Given the description of an element on the screen output the (x, y) to click on. 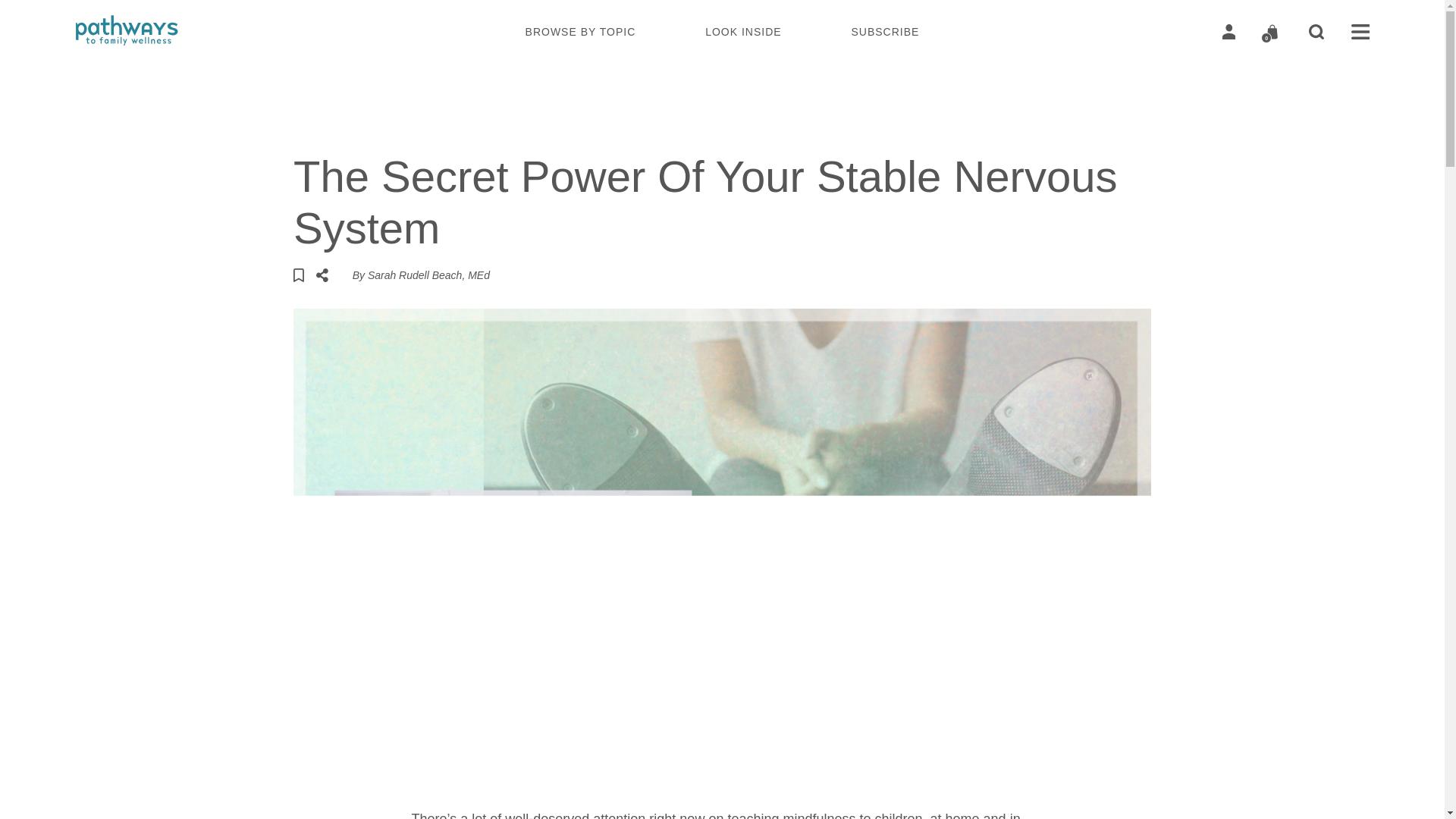
LOOK INSIDE (742, 31)
BROWSE BY TOPIC (580, 31)
Sarah Rudell Beach, MEd (428, 275)
0 (1272, 31)
SUBSCRIBE (884, 31)
